Given the description of an element on the screen output the (x, y) to click on. 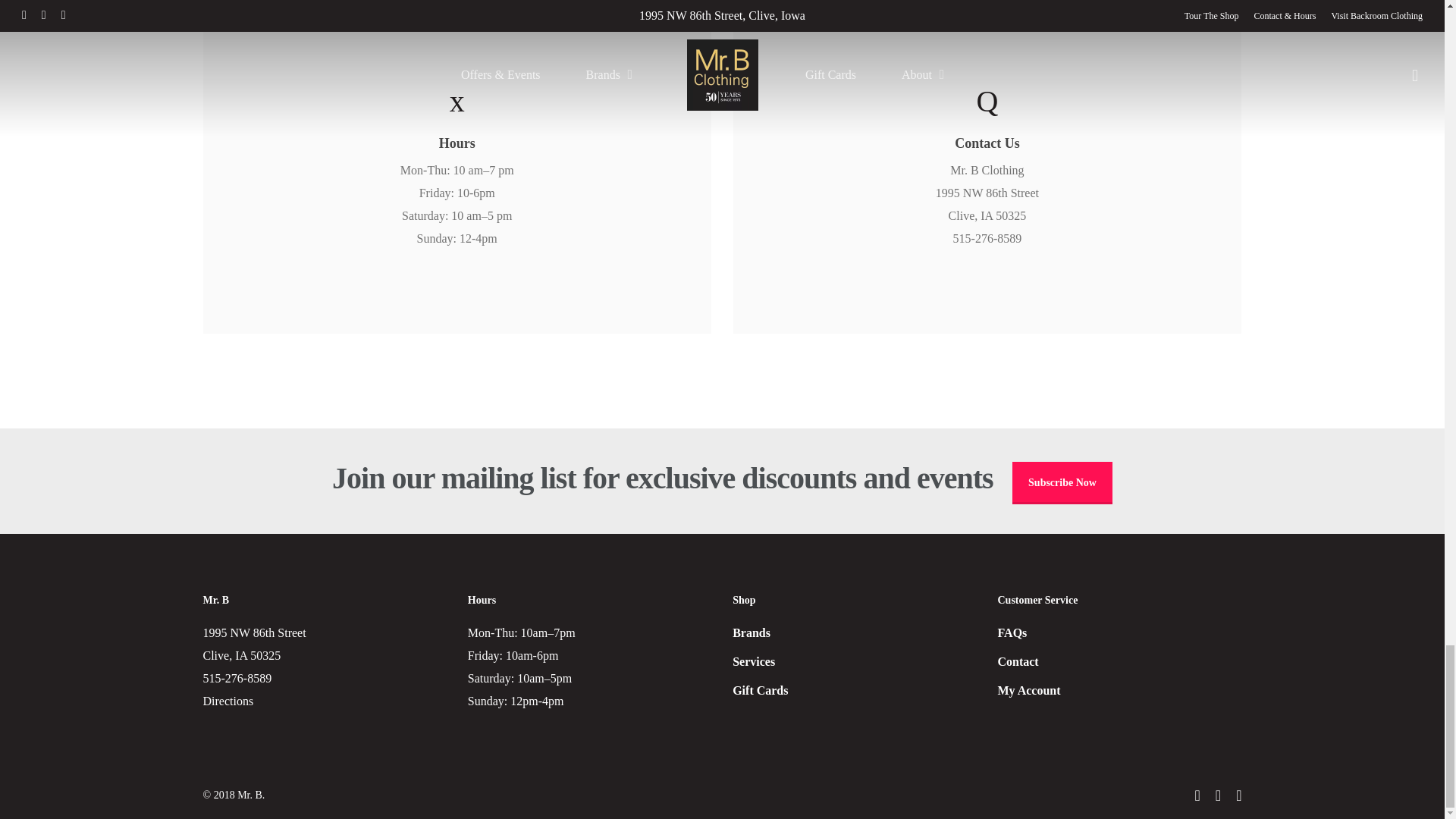
My Account (1119, 690)
515-276-8589 (237, 677)
Directions (228, 700)
Subscribe Now (1061, 482)
FAQs (1119, 632)
Services (854, 661)
Gift Cards (854, 690)
Brands (854, 632)
Contact (1119, 661)
